Given the description of an element on the screen output the (x, y) to click on. 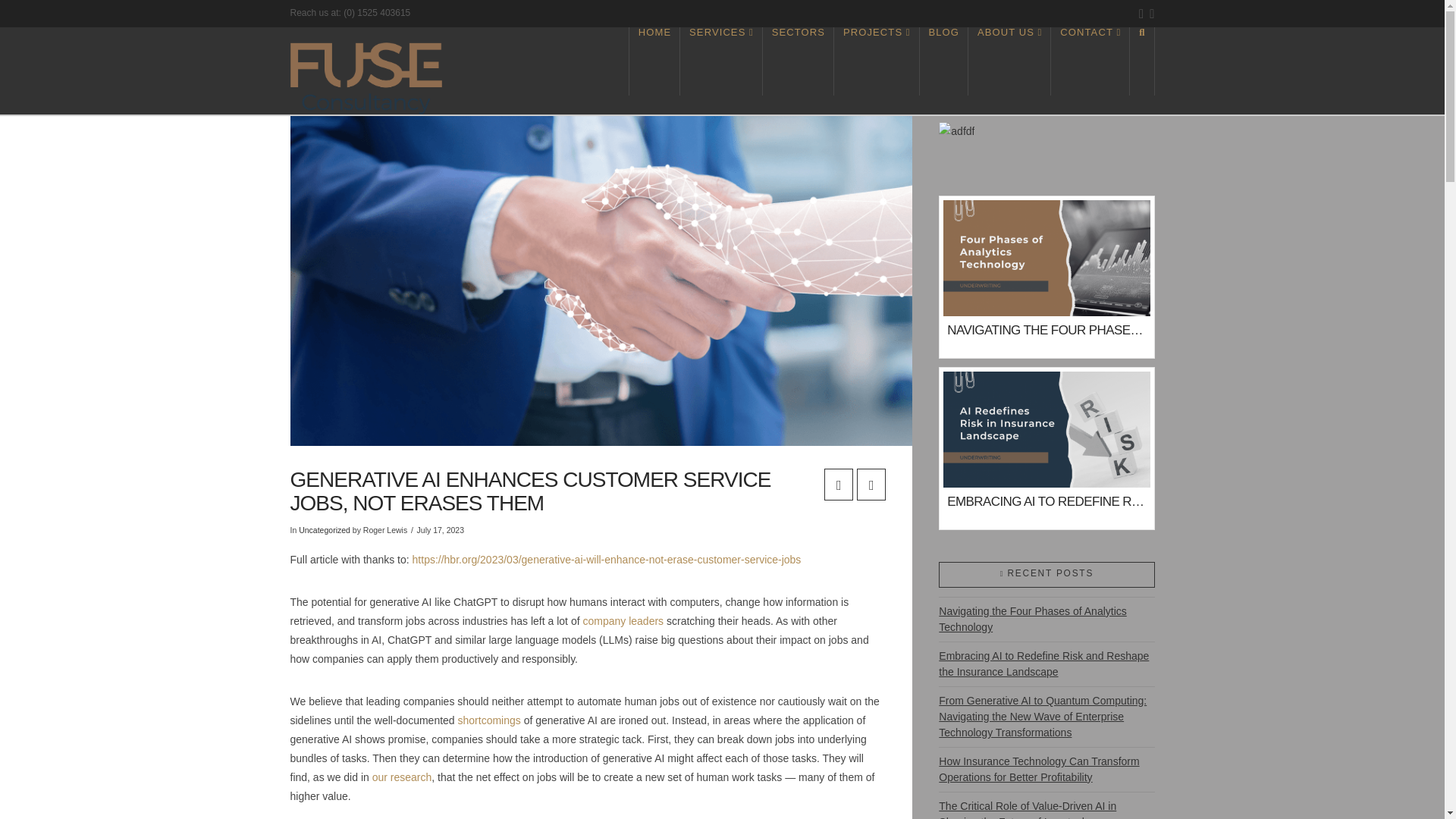
SECTORS (798, 61)
CONTACT (1090, 61)
PROJECTS (877, 61)
SERVICES (720, 61)
ABOUT US (1009, 61)
